Given the description of an element on the screen output the (x, y) to click on. 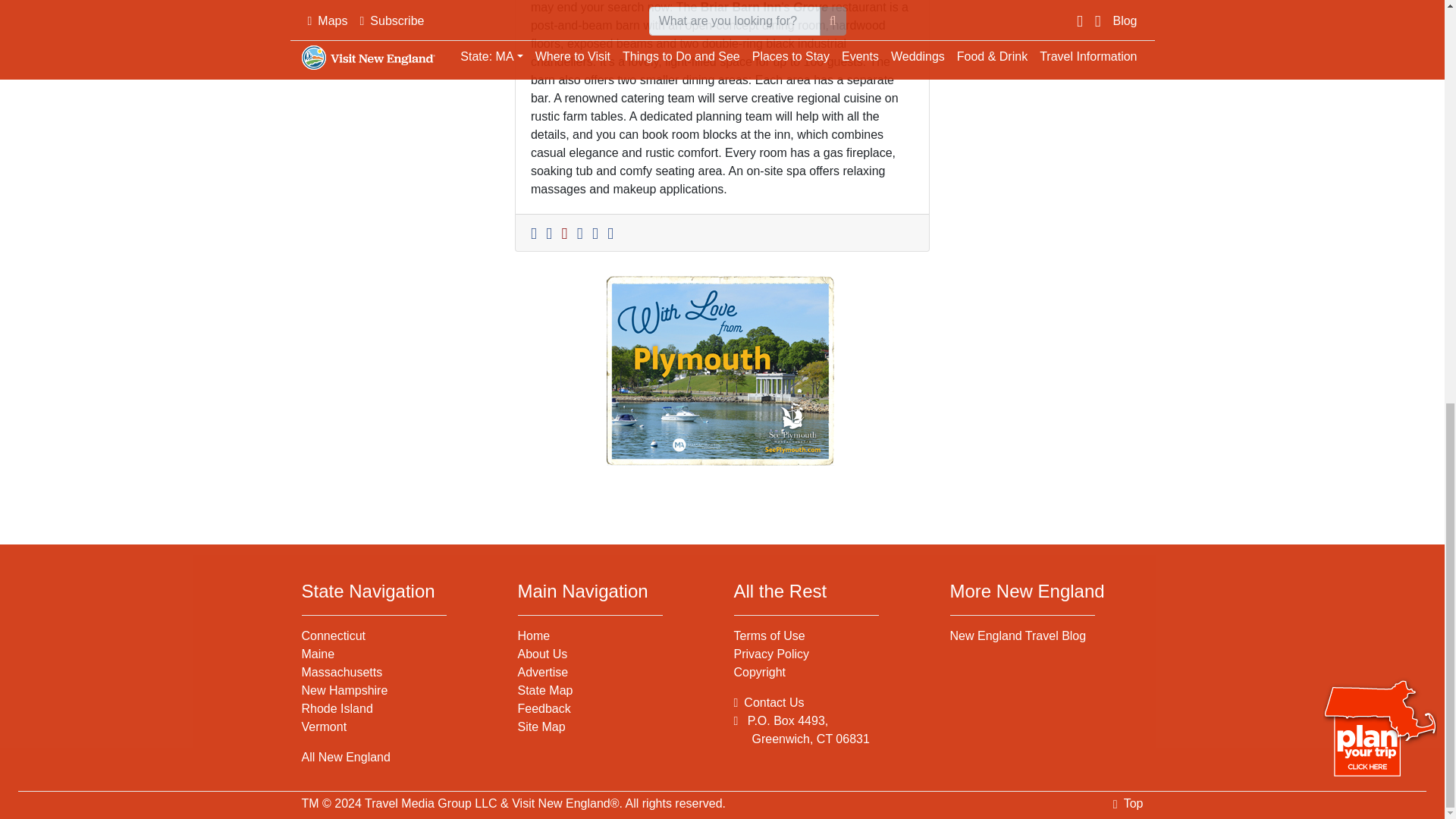
Pinterest (598, 232)
Map (551, 232)
Email (537, 232)
Facebook (582, 232)
Instagram (613, 232)
Book a Room (566, 232)
